Given the description of an element on the screen output the (x, y) to click on. 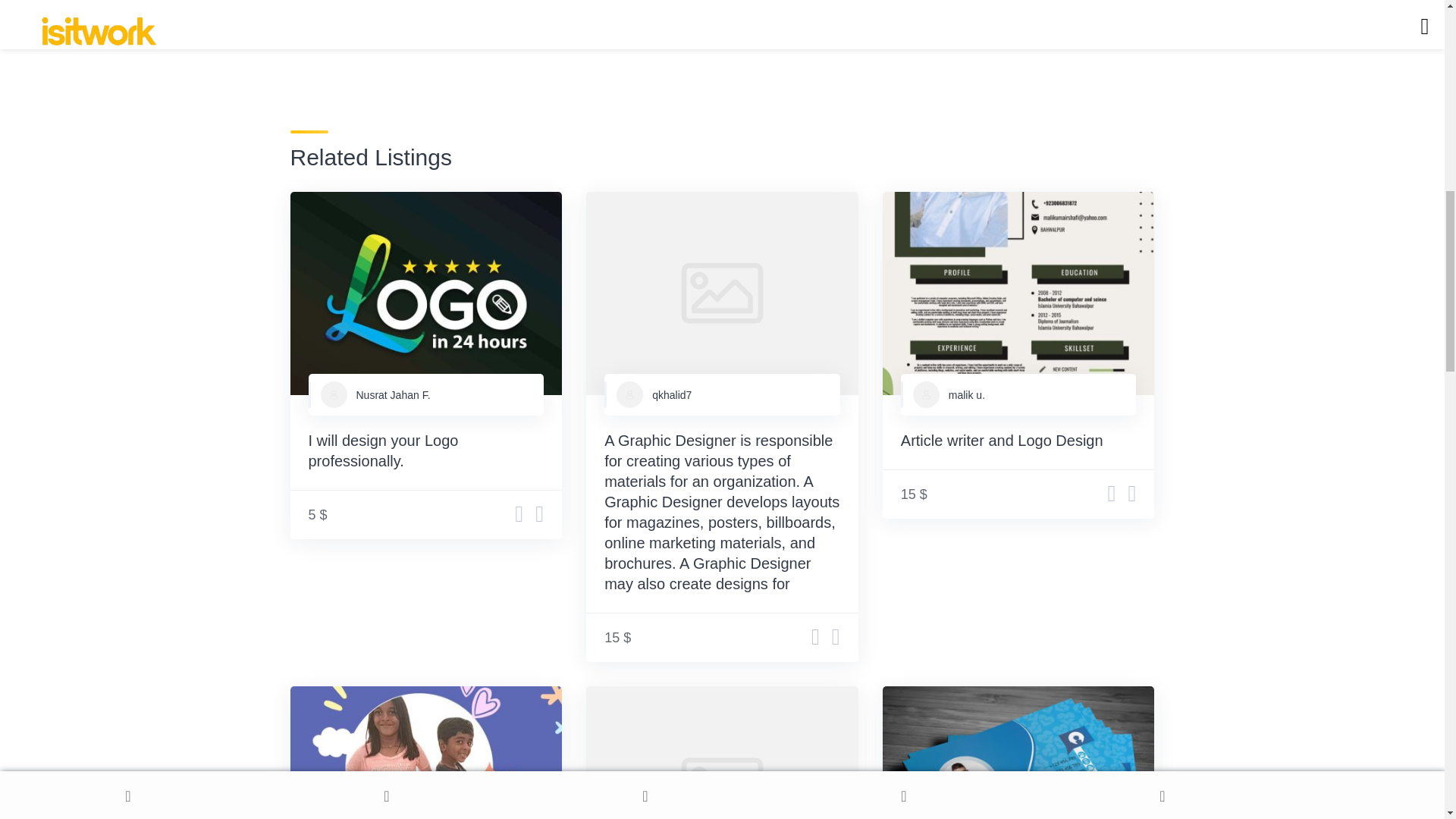
malik u. (967, 395)
Article writer and Logo Design (1002, 440)
I will design your Logo professionally. (382, 450)
Nusrat Jahan F. (393, 395)
qkhalid7 (671, 395)
